Given the description of an element on the screen output the (x, y) to click on. 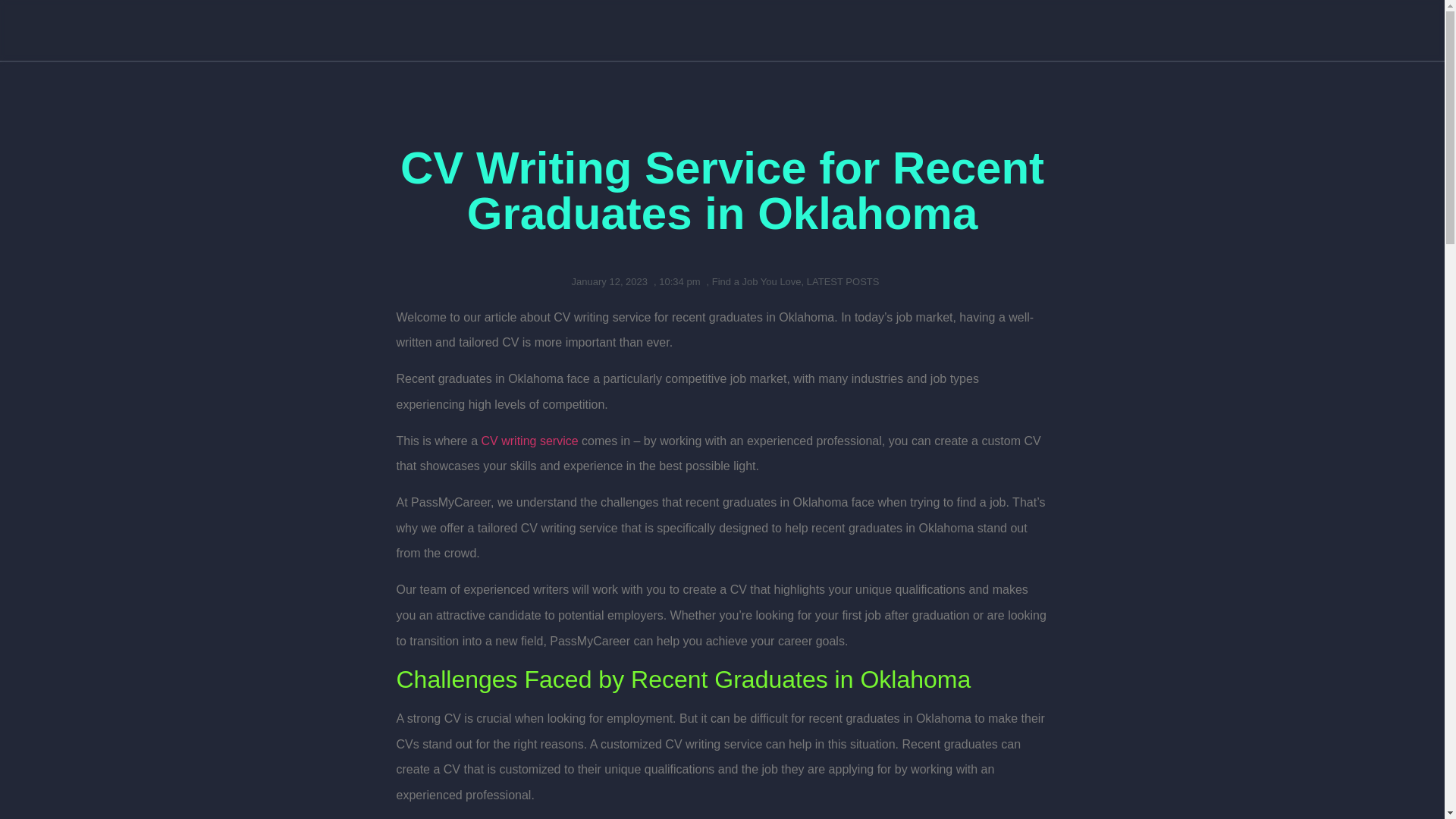
January 12, 2023 (606, 281)
LATEST POSTS (842, 281)
CV writing service (529, 440)
Find a Job You Love (756, 281)
